Given the description of an element on the screen output the (x, y) to click on. 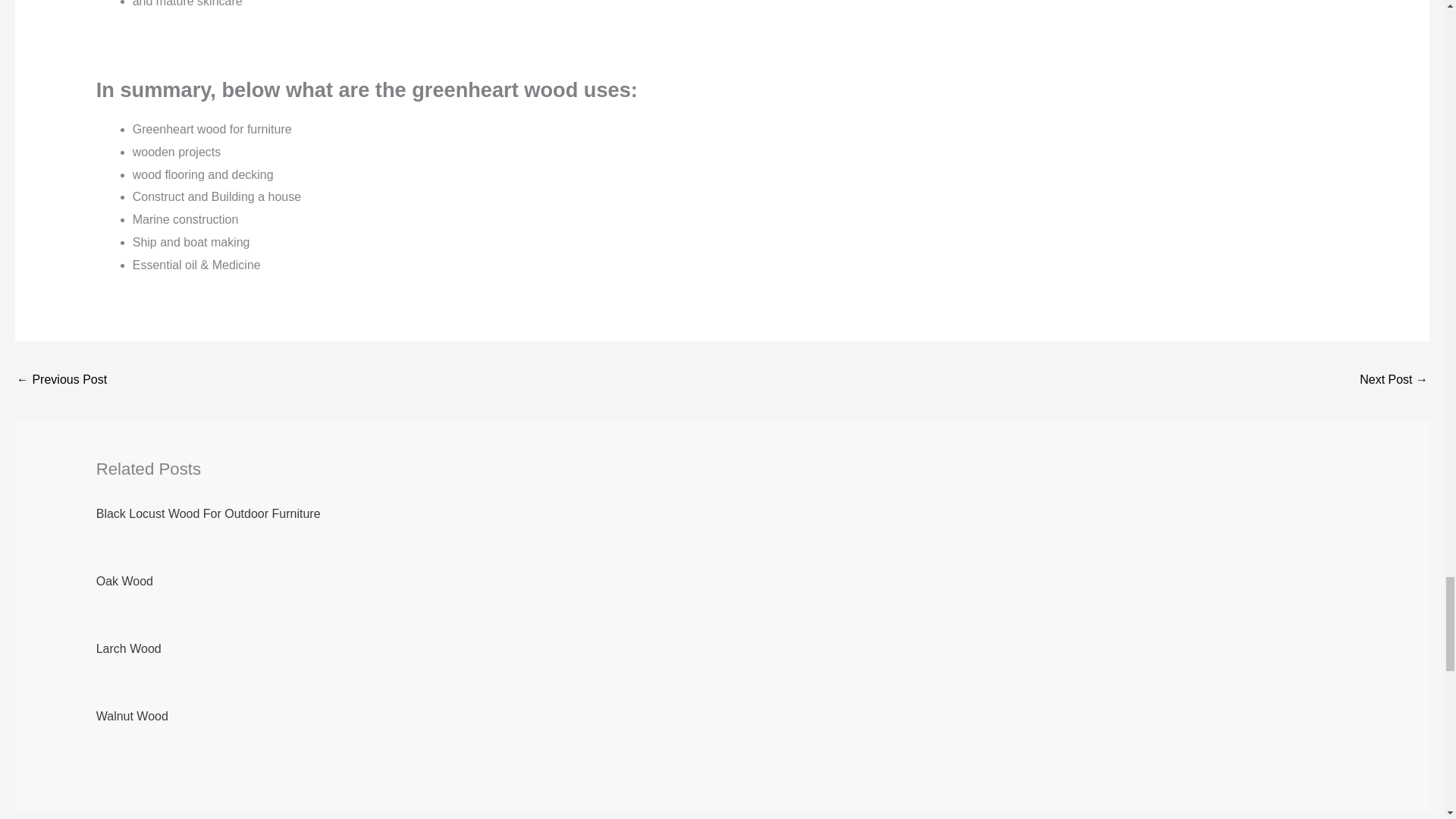
Iroko Wood (1393, 380)
Walnut Wood (132, 716)
Oak Wood (124, 581)
Black Locust Wood For Outdoor Furniture (208, 513)
Larch Wood (128, 648)
Elm Wood Uses (61, 380)
